Given the description of an element on the screen output the (x, y) to click on. 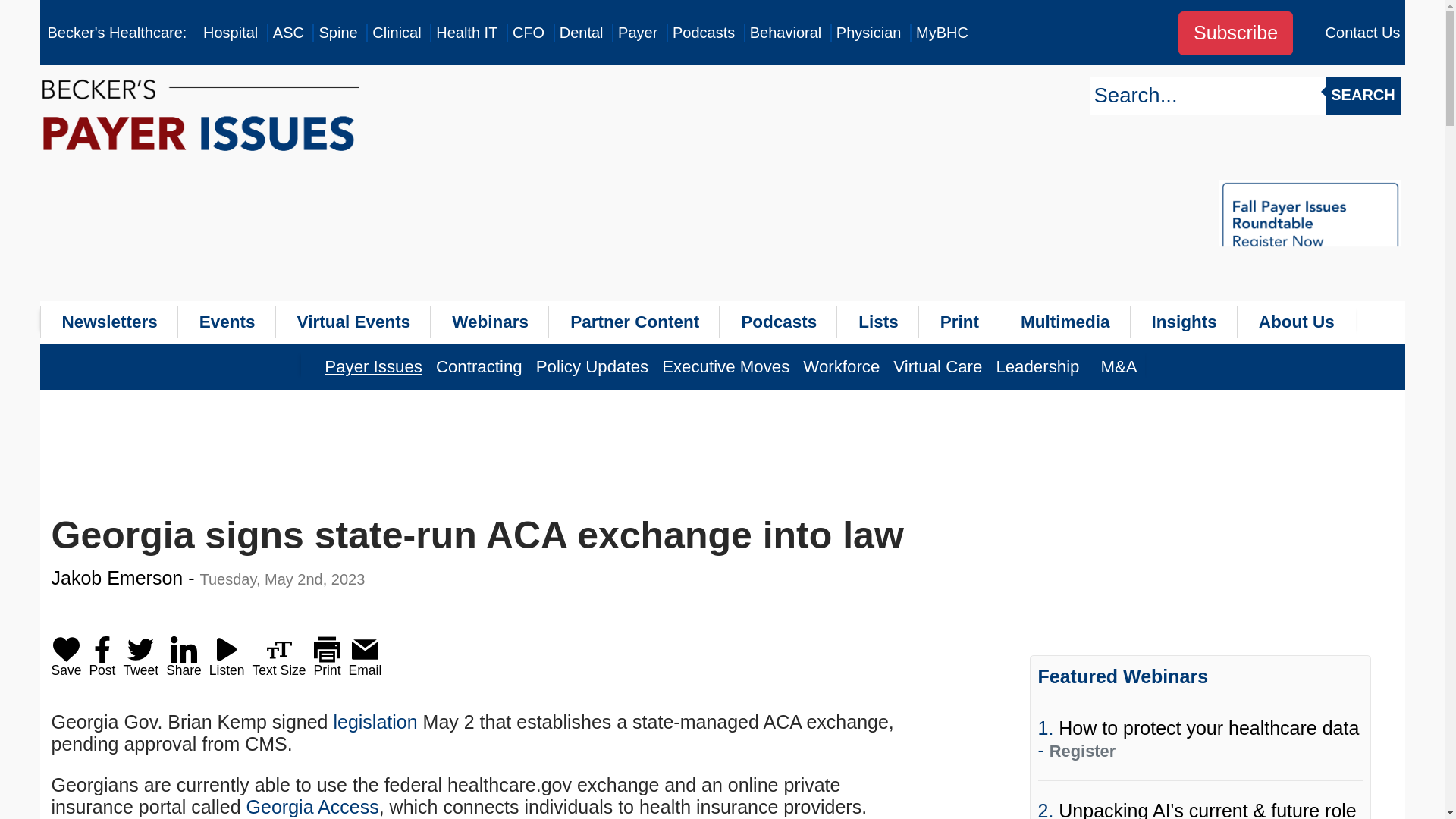
Becker's Spine Review (337, 32)
Becker's Hospital Review (230, 32)
Becker's Payer Issues (637, 32)
Payer (637, 32)
Dental (581, 32)
Hospital (230, 32)
Podcasts (703, 32)
Becker's CFO (528, 32)
ASC (288, 32)
MyBHC (941, 32)
